Given the description of an element on the screen output the (x, y) to click on. 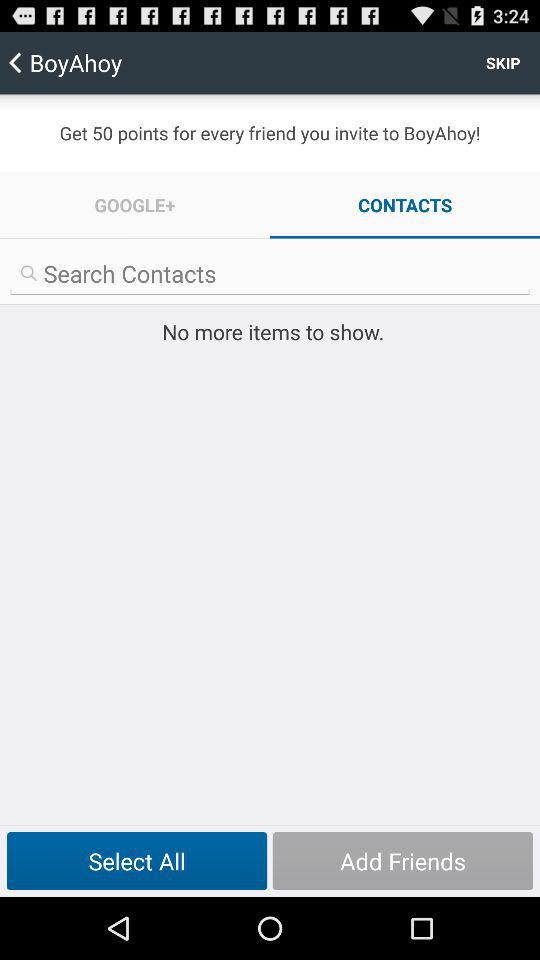
jump until the no more items (269, 331)
